Given the description of an element on the screen output the (x, y) to click on. 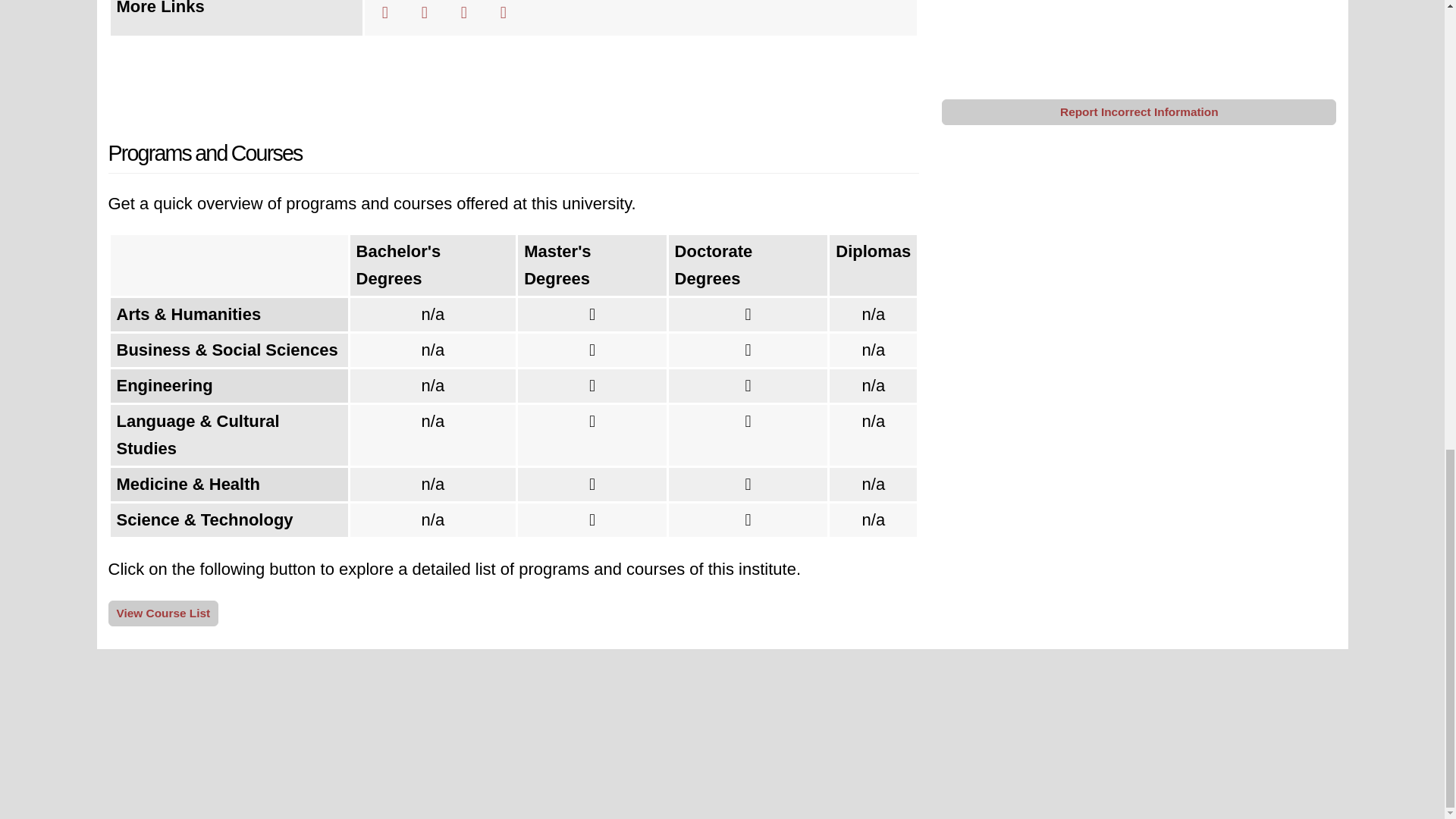
View Course List (162, 613)
Report Incorrect Information (1139, 112)
